Given the description of an element on the screen output the (x, y) to click on. 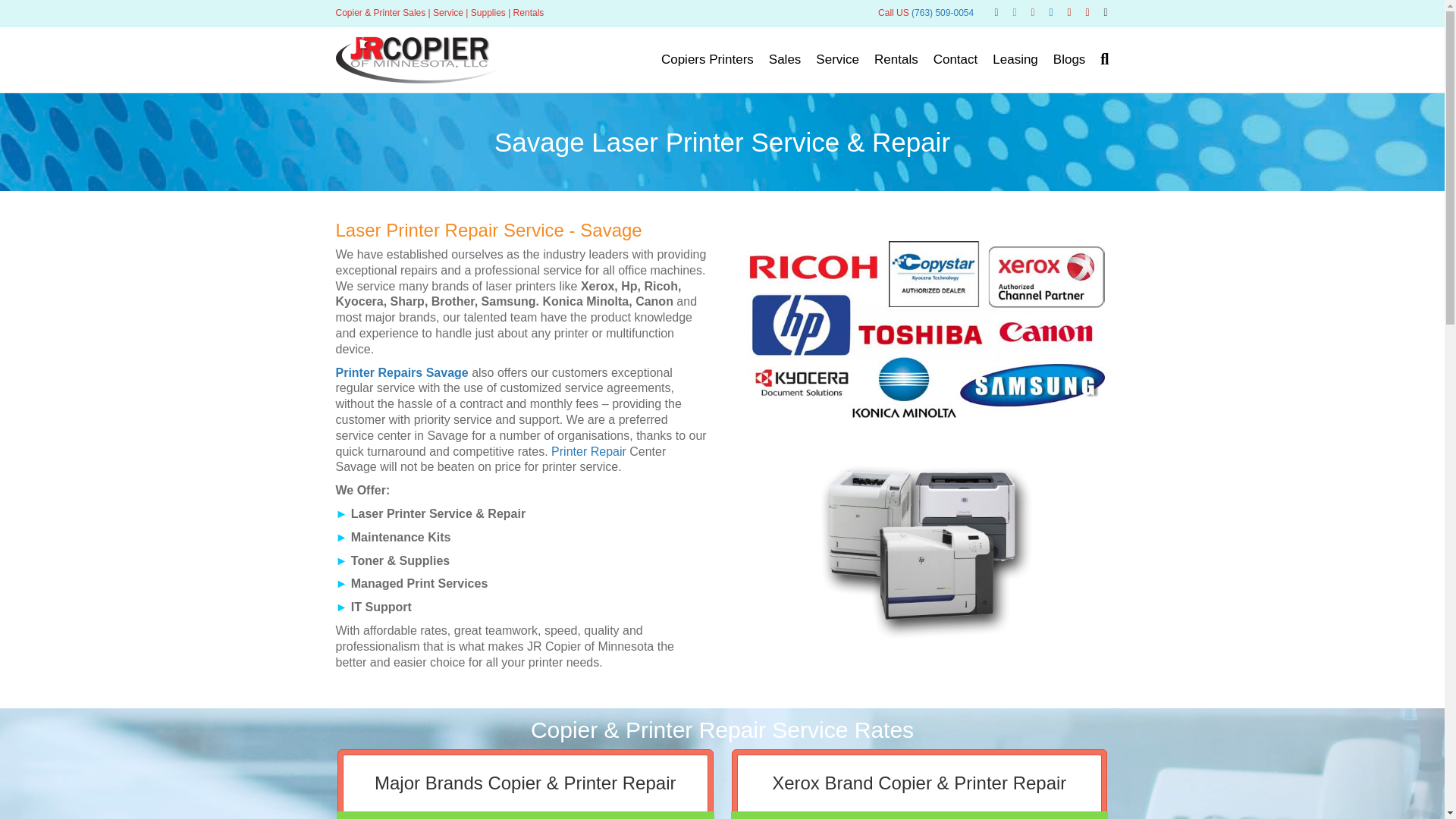
Linkedin (1042, 11)
Rentals (896, 59)
laser printer repair service (922, 548)
Twitter (1006, 11)
Sales (785, 59)
Yelp (1061, 11)
Youtube (1079, 11)
Contact (955, 59)
Facebook (988, 11)
laser printer repair service (922, 330)
